Given the description of an element on the screen output the (x, y) to click on. 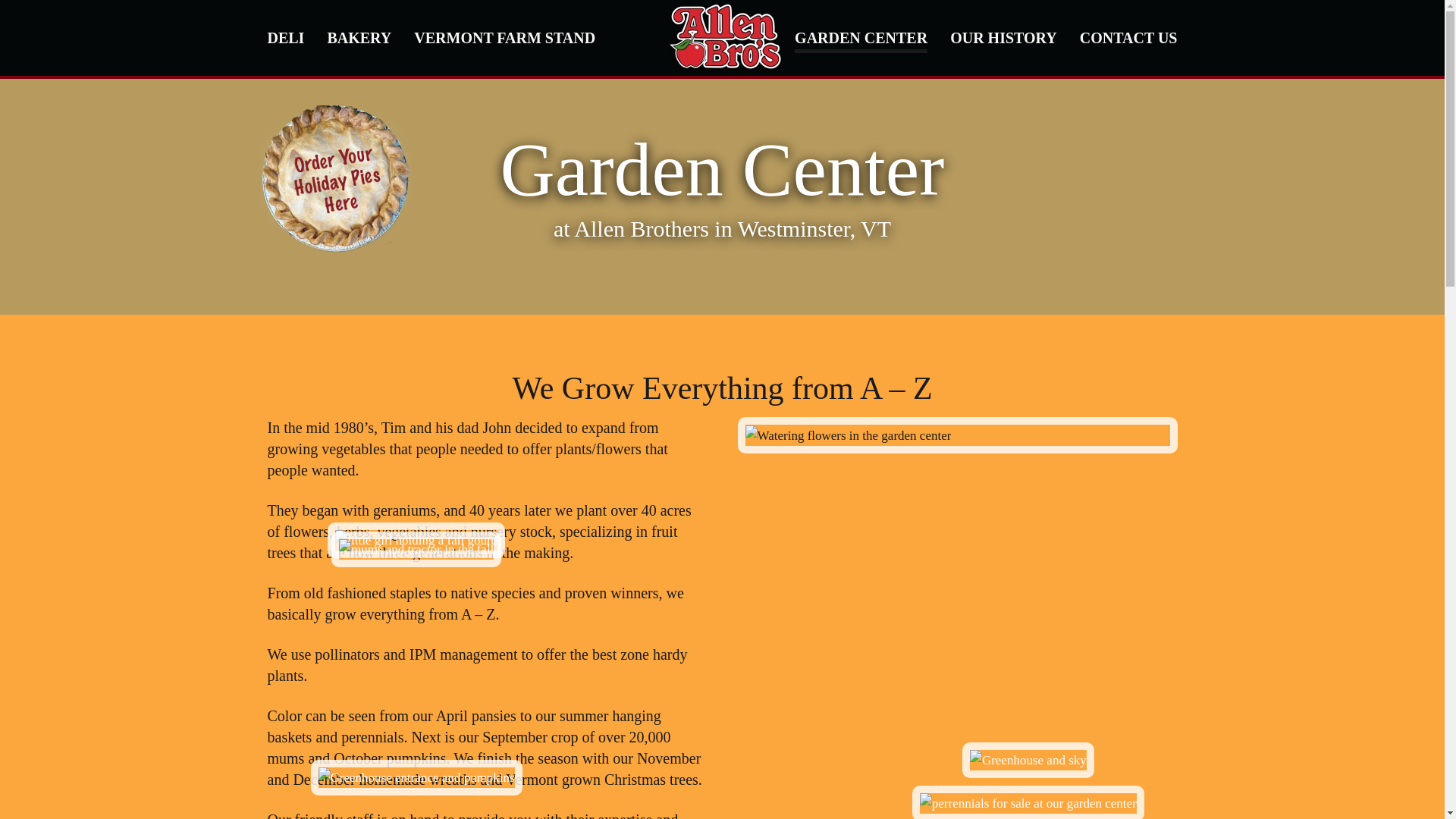
VERMONT FARM STAND (504, 38)
CONTACT US (1128, 38)
OUR HISTORY (1003, 38)
GARDEN CENTER (860, 38)
